Given the description of an element on the screen output the (x, y) to click on. 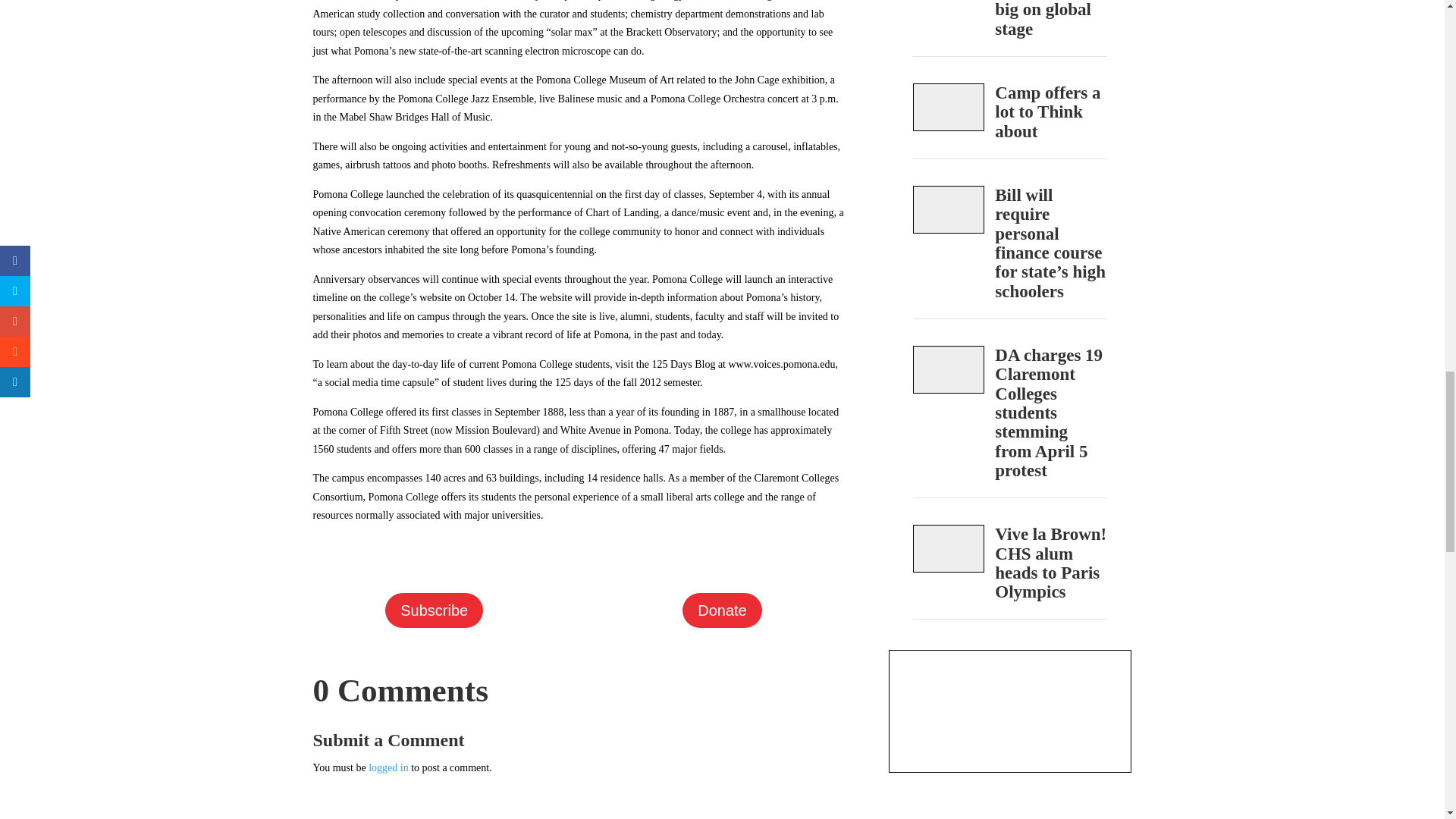
Donate (721, 610)
aa.PC-Protest-2.WEB (949, 369)
EDSource WEB (949, 209)
aa.Project-Thinkers-5.WEB (949, 107)
Claremont student scholars win big on global stage (1050, 23)
logged in (388, 767)
Subscribe (434, 610)
